Given the description of an element on the screen output the (x, y) to click on. 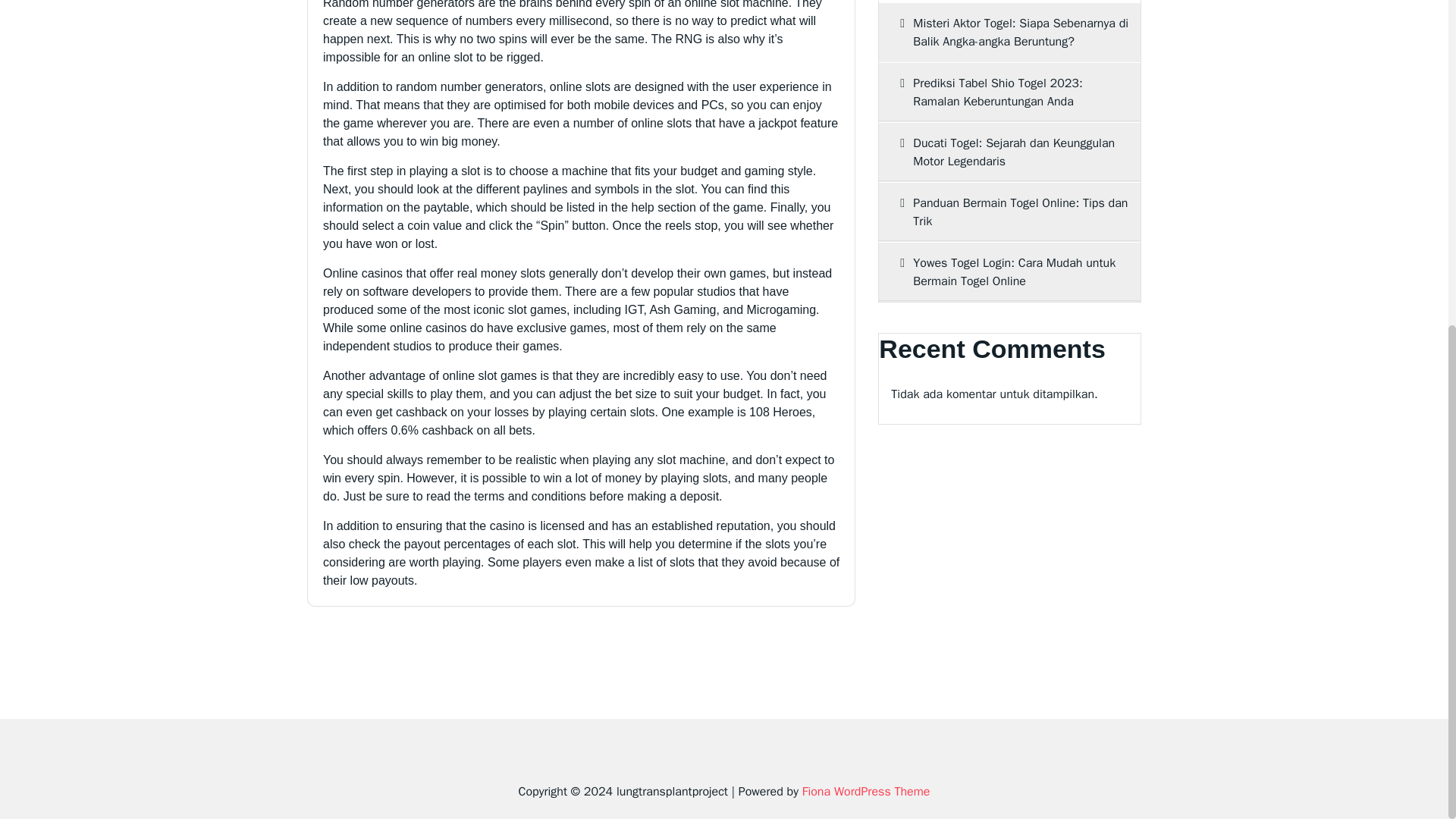
Prediksi Tabel Shio Togel 2023: Ramalan Keberuntungan Anda (1009, 92)
Fiona WordPress Theme (866, 791)
Yowes Togel Login: Cara Mudah untuk Bermain Togel Online (1009, 272)
Panduan Bermain Togel Online: Tips dan Trik (1009, 211)
Ducati Togel: Sejarah dan Keunggulan Motor Legendaris (1009, 151)
